Given the description of an element on the screen output the (x, y) to click on. 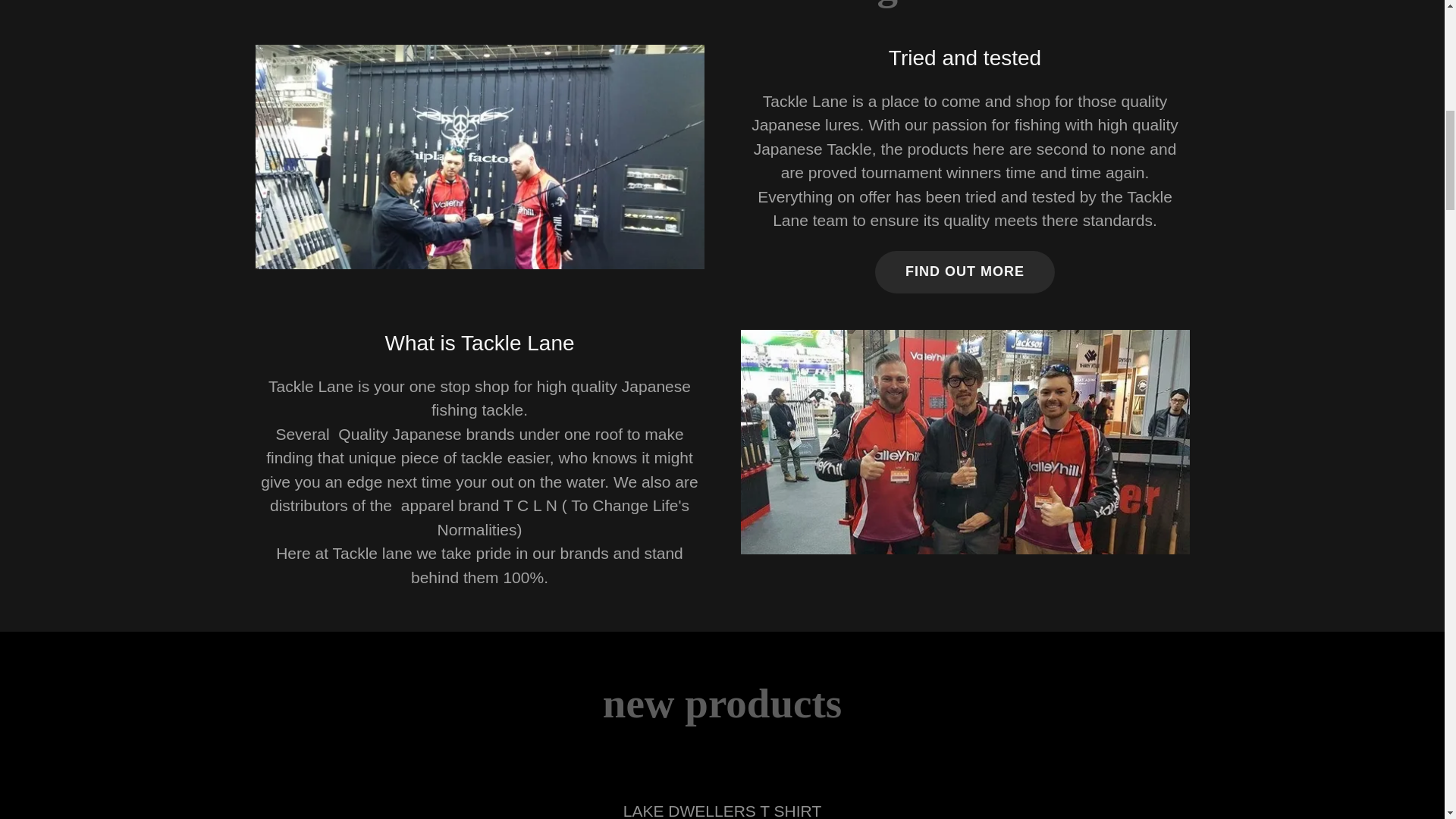
FIND OUT MORE (964, 271)
